Given the description of an element on the screen output the (x, y) to click on. 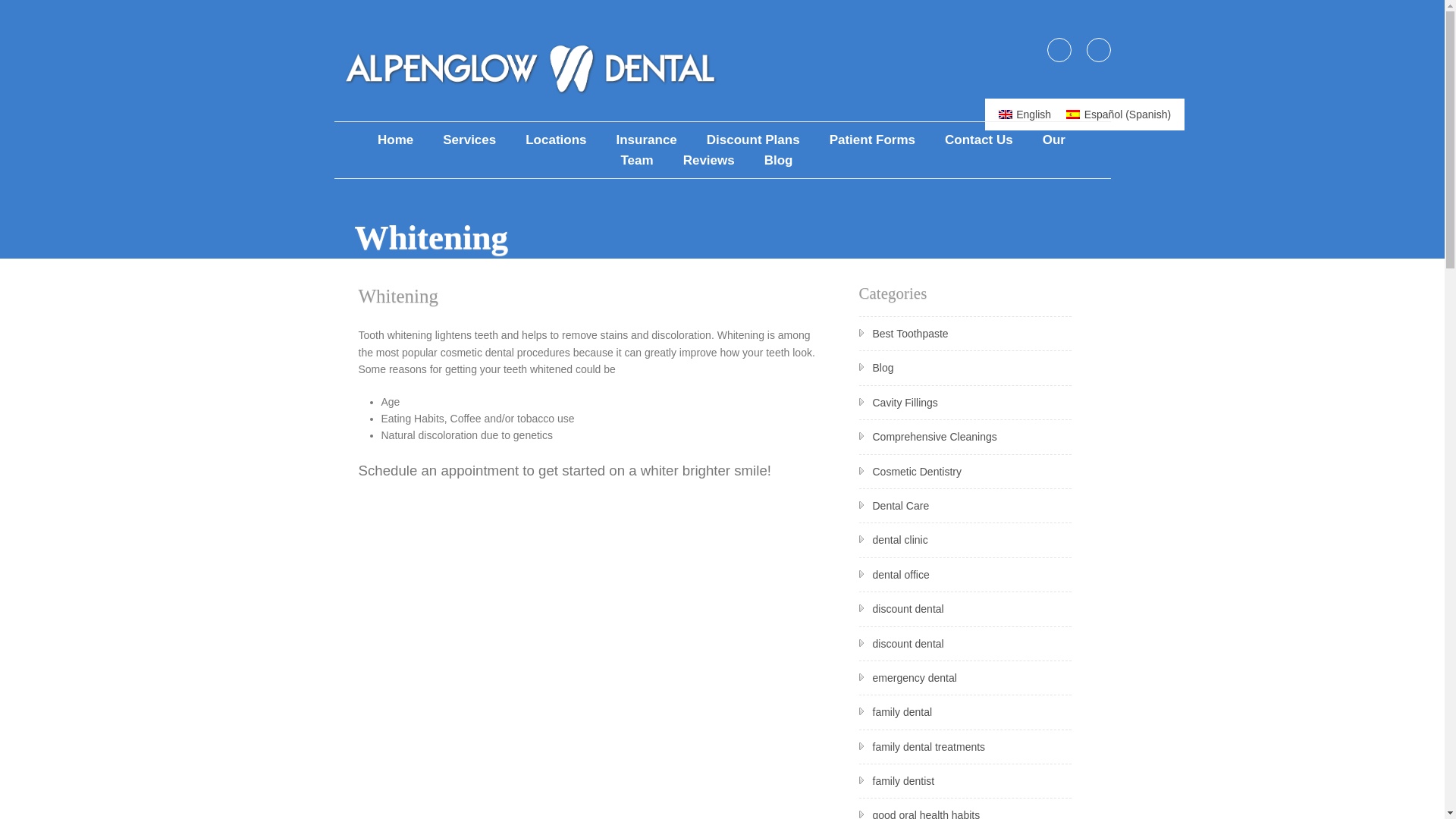
Home (395, 139)
Services (469, 139)
